Given the description of an element on the screen output the (x, y) to click on. 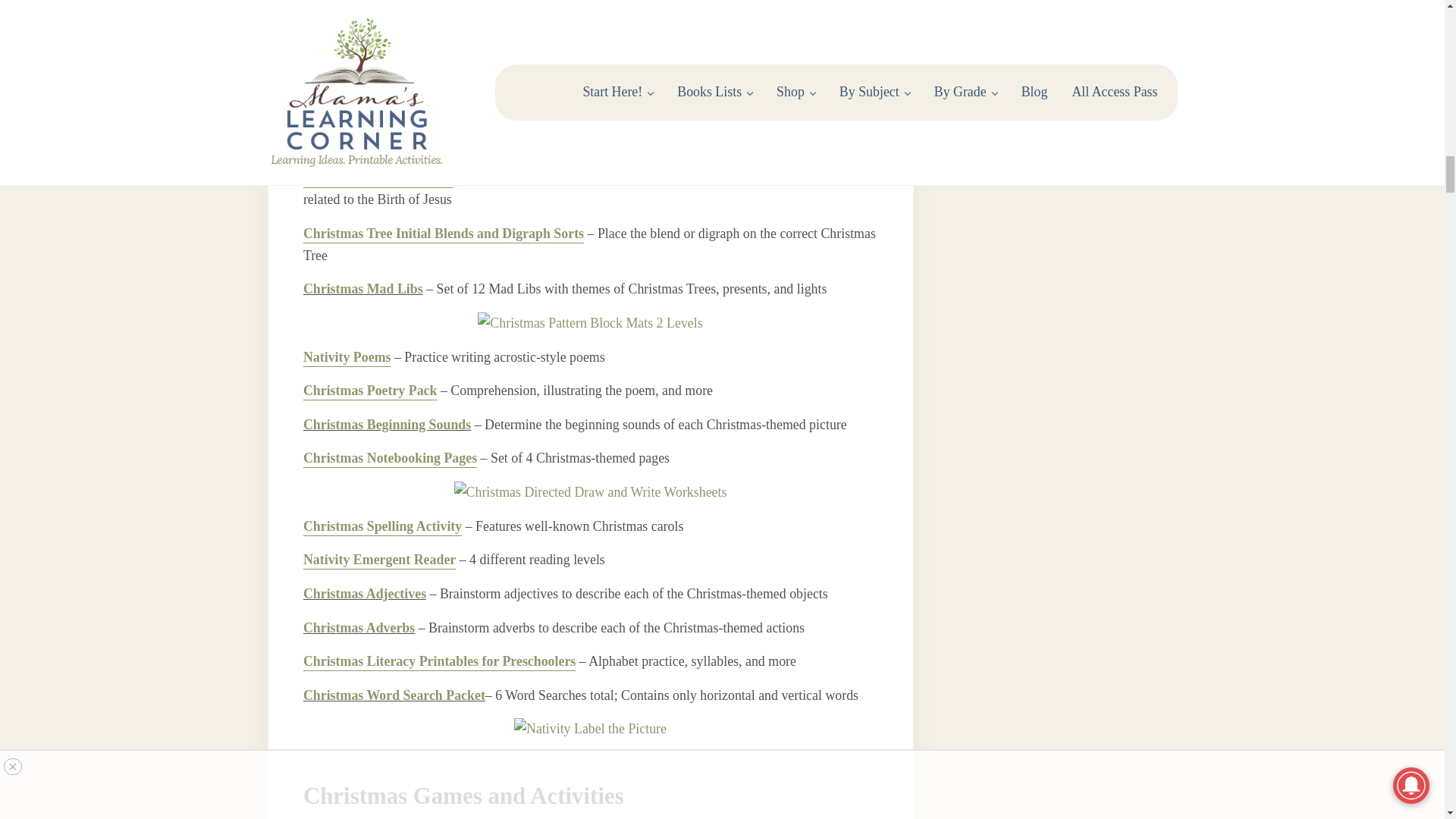
Christmas Adverbs Worksheet (358, 627)
Set of 3 Christmas Mad Libs (362, 288)
Christmas Adjectives Worksheet (364, 593)
